Given the description of an element on the screen output the (x, y) to click on. 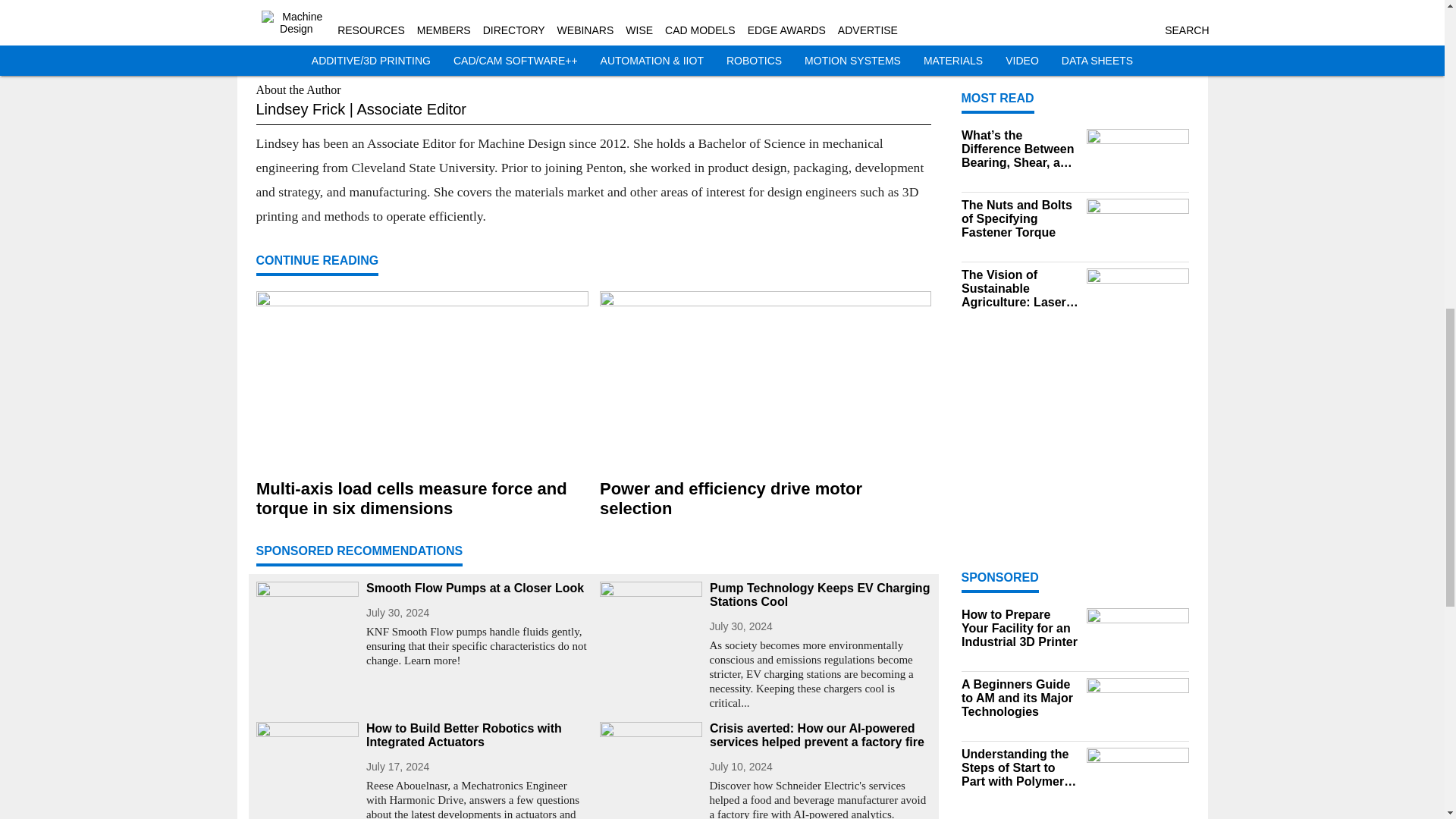
How to Build Better Robotics with Integrated Actuators (476, 735)
Pump Technology Keeps EV Charging Stations Cool (820, 595)
Power and efficiency drive motor selection (764, 498)
Smooth Flow Pumps at a Closer Look (476, 588)
